Given the description of an element on the screen output the (x, y) to click on. 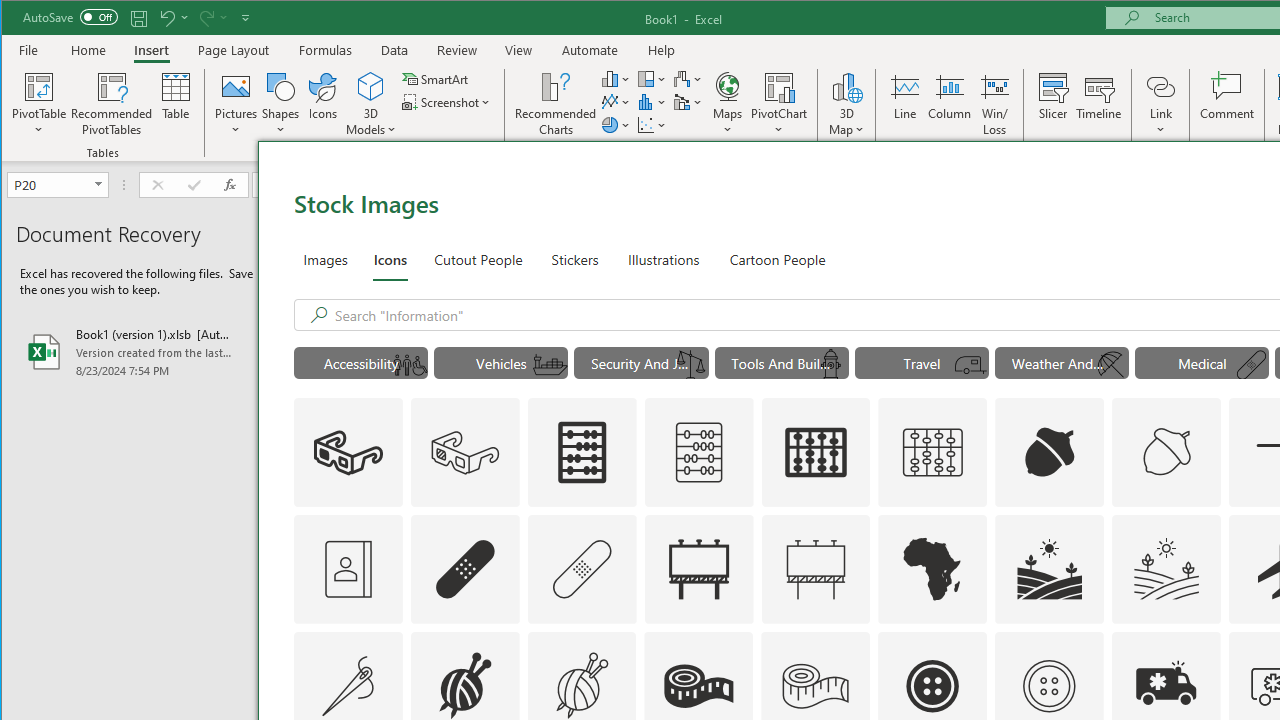
"Vehicles" Icons. (500, 362)
AutomationID: Icons_FireHydrant_M (830, 365)
Icons (323, 104)
Slicer... (1052, 104)
AutomationID: Icons_Advertising (698, 568)
AutomationID: Icons_AdhesiveBandage (464, 568)
AutomationID: Icons_Africa (932, 568)
AutomationID: Icons_AdhesiveBandage_M (582, 568)
